Given the description of an element on the screen output the (x, y) to click on. 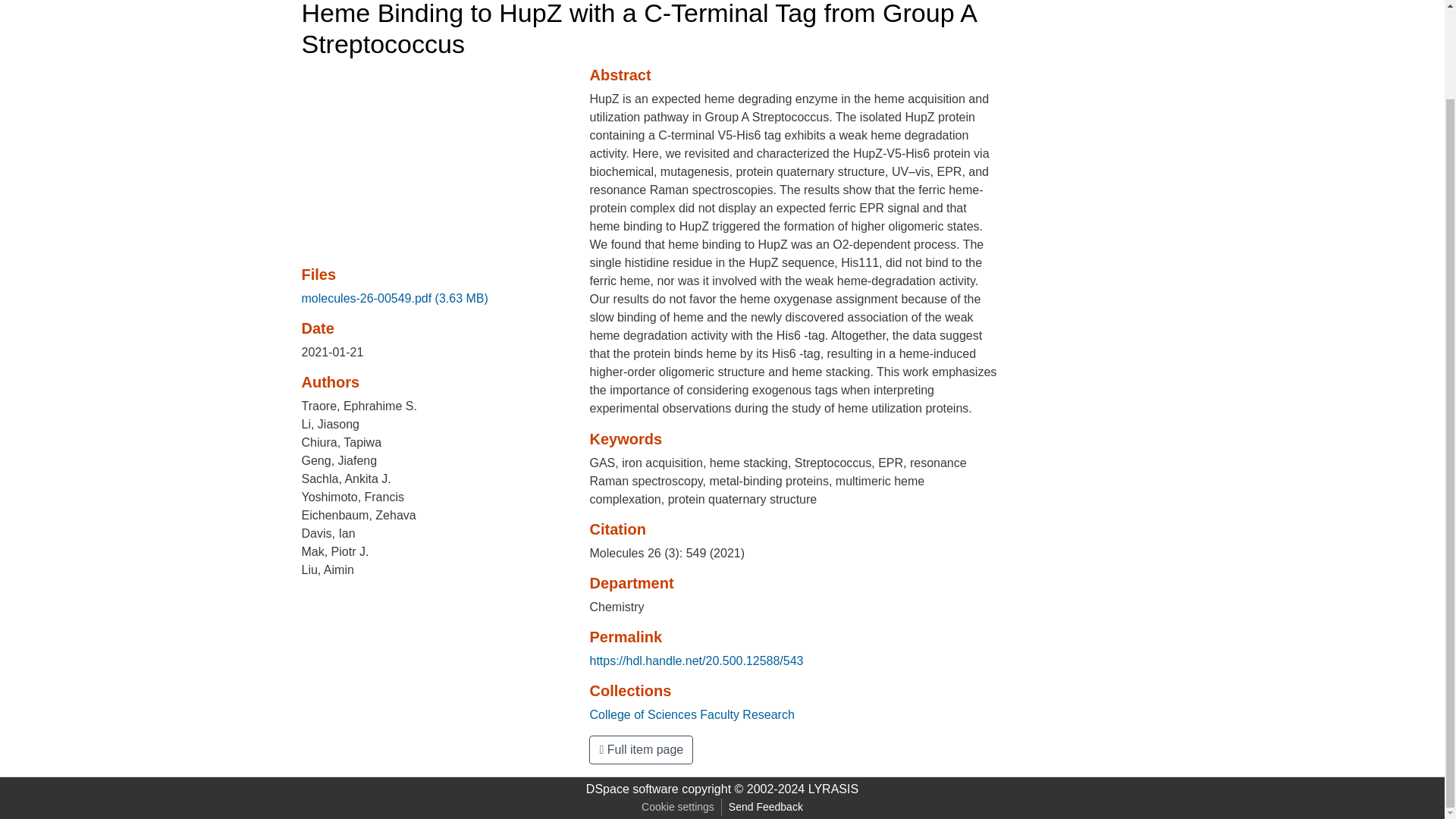
College of Sciences Faculty Research (691, 714)
Full item page (641, 749)
DSpace software (632, 788)
Send Feedback (765, 806)
Cookie settings (677, 806)
LYRASIS (833, 788)
